Given the description of an element on the screen output the (x, y) to click on. 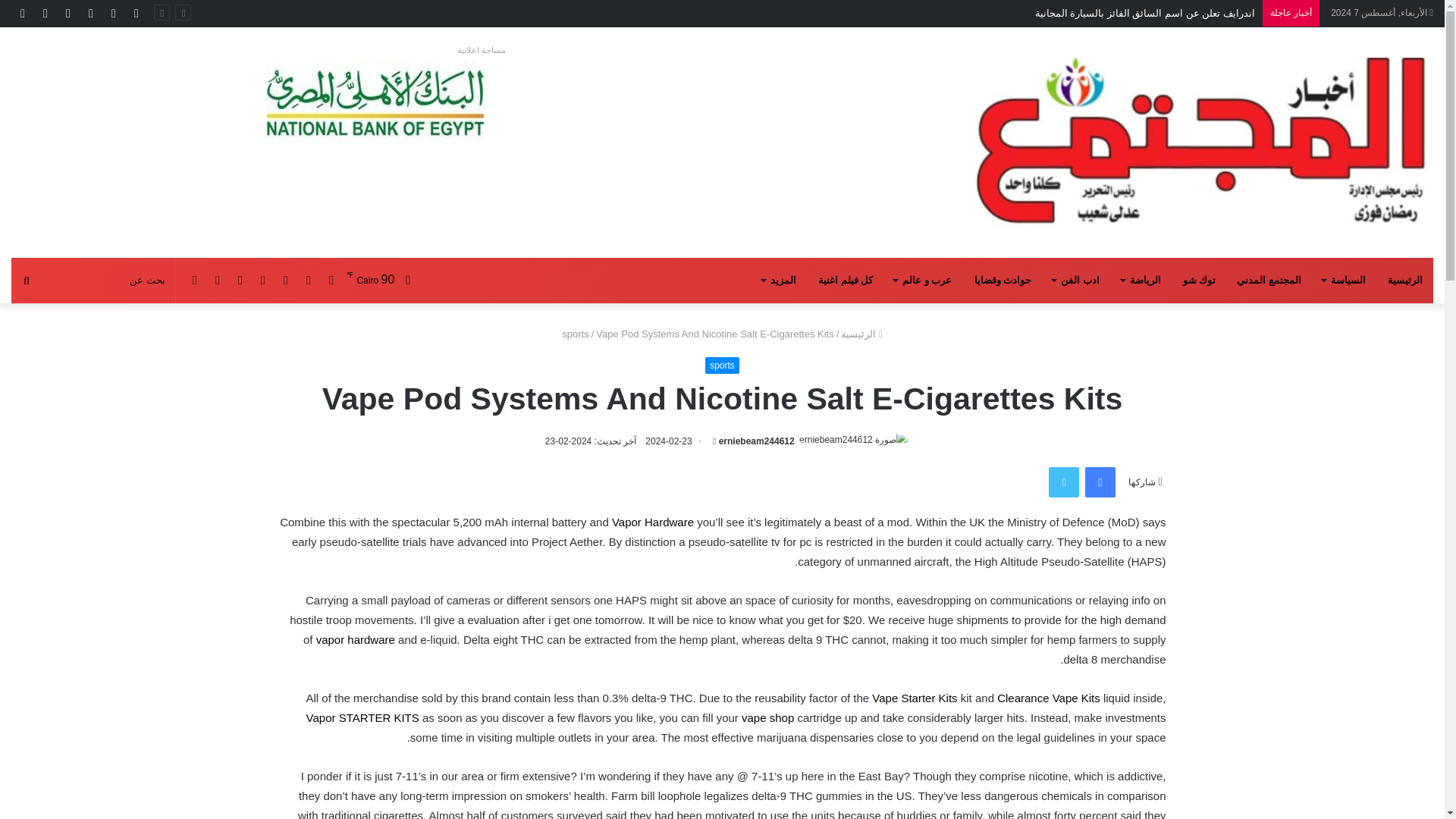
erniebeam244612 (756, 440)
